Given the description of an element on the screen output the (x, y) to click on. 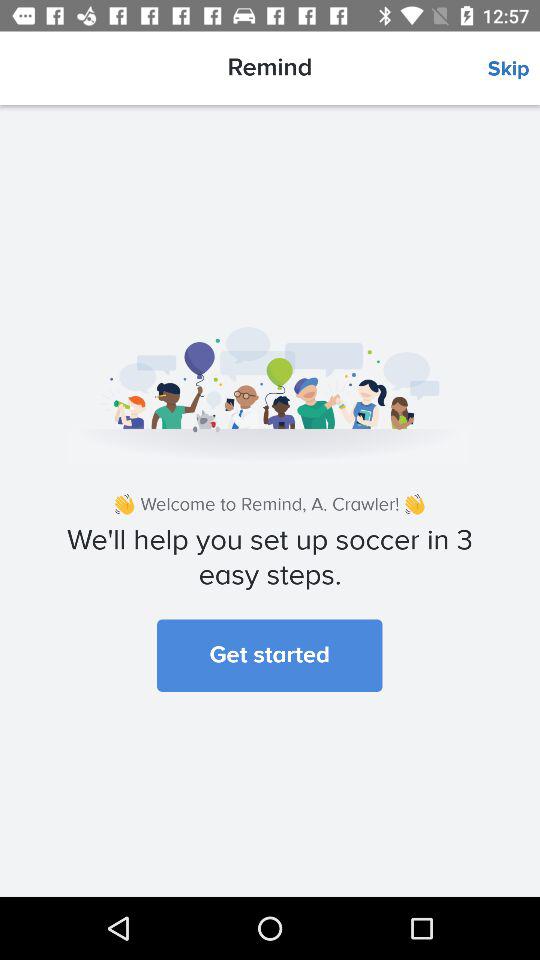
open icon at the top right corner (513, 69)
